Given the description of an element on the screen output the (x, y) to click on. 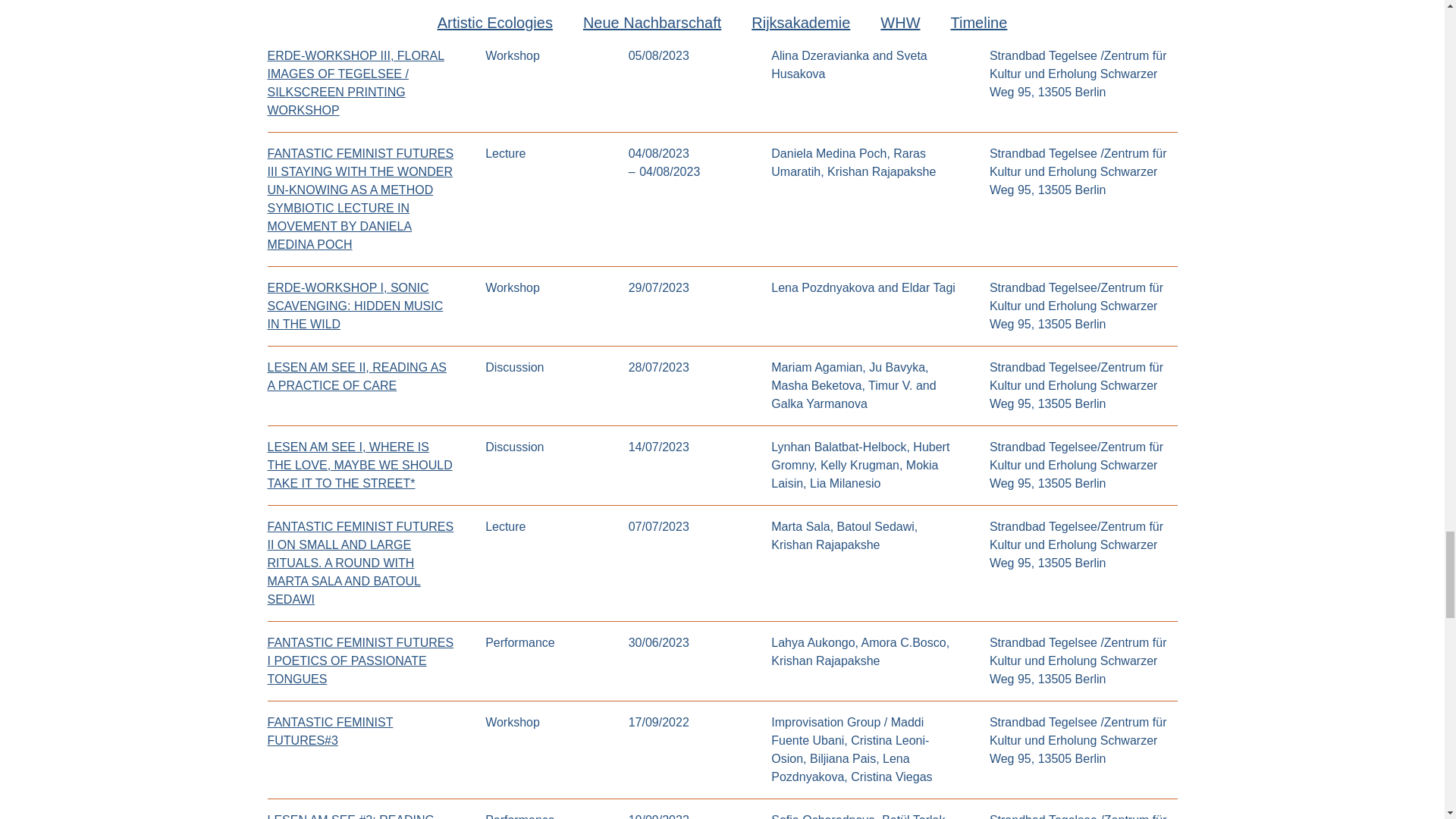
ERDE-WORKSHOP I, SONIC SCAVENGING: HIDDEN MUSIC IN THE WILD (354, 305)
FANTASTIC FEMINIST FUTURES I POETICS OF PASSIONATE TONGUES (359, 660)
LESEN AM SEE II, READING AS A PRACTICE OF CARE (356, 376)
